Given the description of an element on the screen output the (x, y) to click on. 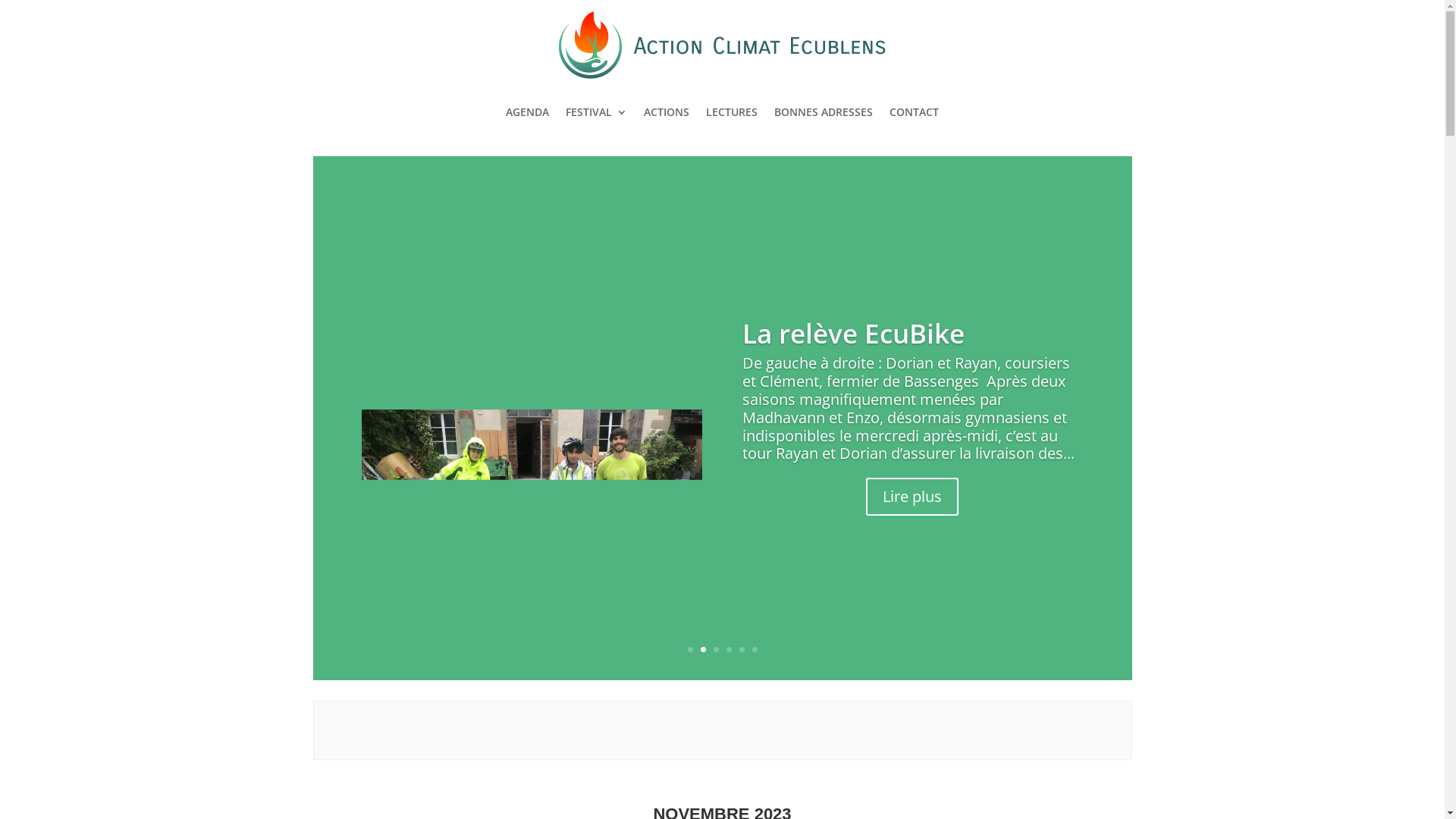
6 Element type: text (754, 649)
Une parade pour le Boulevard urbain Element type: text (865, 333)
LECTURES Element type: text (731, 112)
5 Element type: text (740, 649)
AGENDA Element type: text (527, 112)
BONNES ADRESSES Element type: text (823, 112)
1 Element type: text (689, 649)
2 Element type: text (703, 649)
4 Element type: text (728, 649)
CONTACT Element type: text (913, 112)
FESTIVAL Element type: text (596, 112)
Lire plus Element type: text (912, 510)
ACTIONS Element type: text (666, 112)
3 Element type: text (715, 649)
